Given the description of an element on the screen output the (x, y) to click on. 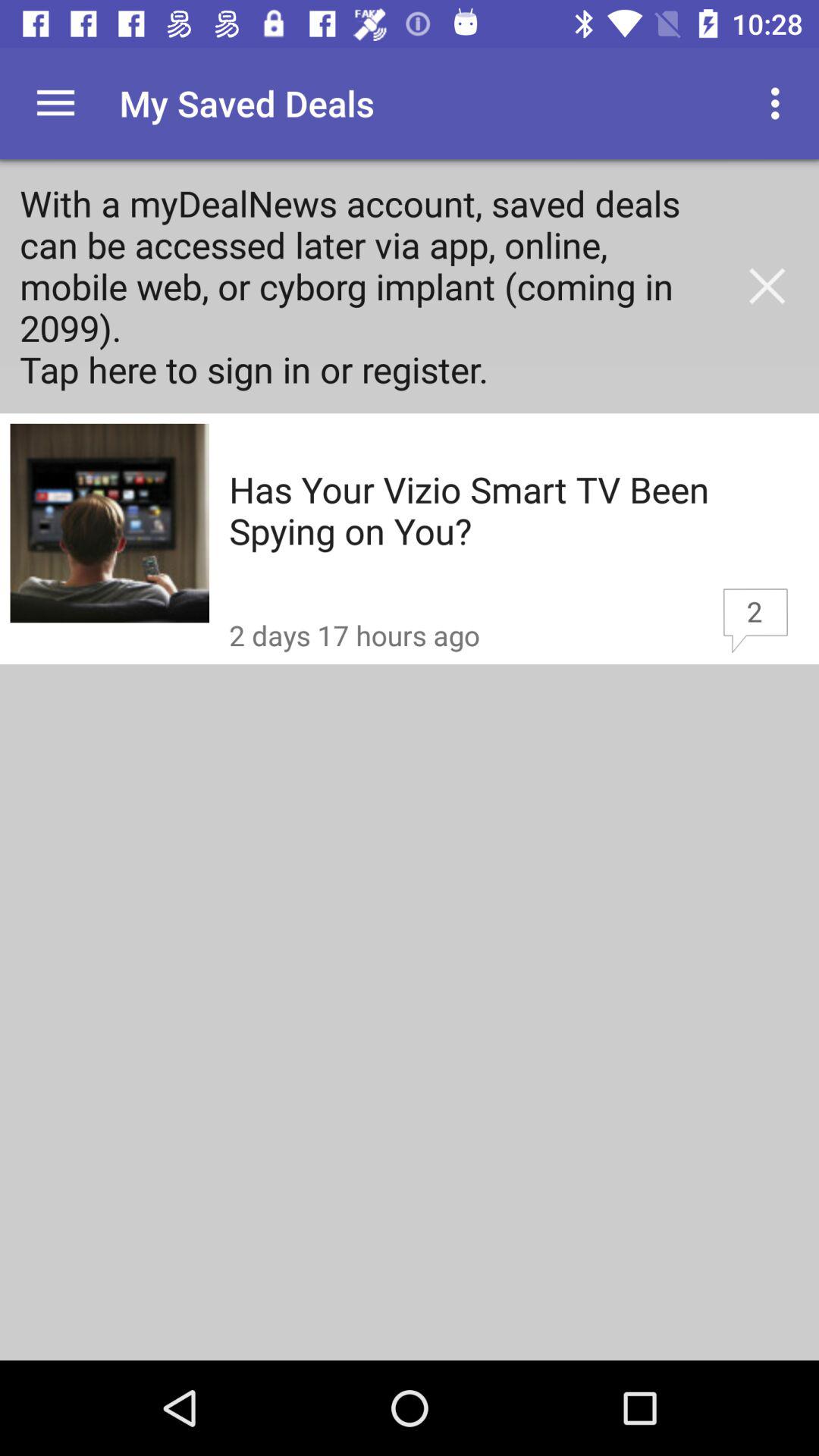
choose icon next to my saved deals item (779, 103)
